Given the description of an element on the screen output the (x, y) to click on. 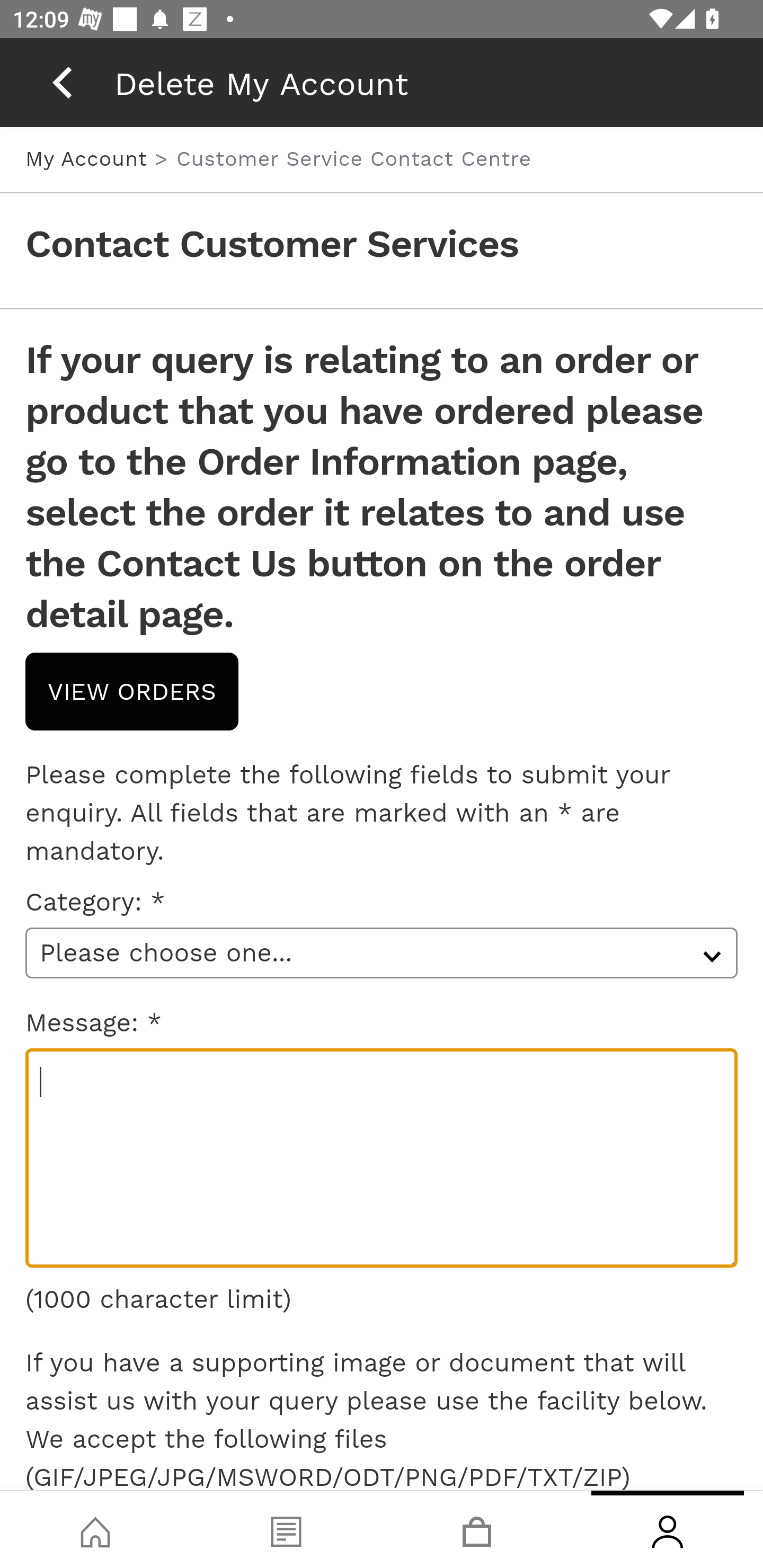
back (61, 82)
My Account  (90, 157)
VIEW ORDERS (132, 691)
Please choose one... (381, 952)
Shop, tab, 1 of 4 (95, 1529)
Blog, tab, 2 of 4 (285, 1529)
Basket, tab, 3 of 4 (476, 1529)
Account, tab, 4 of 4 (667, 1529)
